Given the description of an element on the screen output the (x, y) to click on. 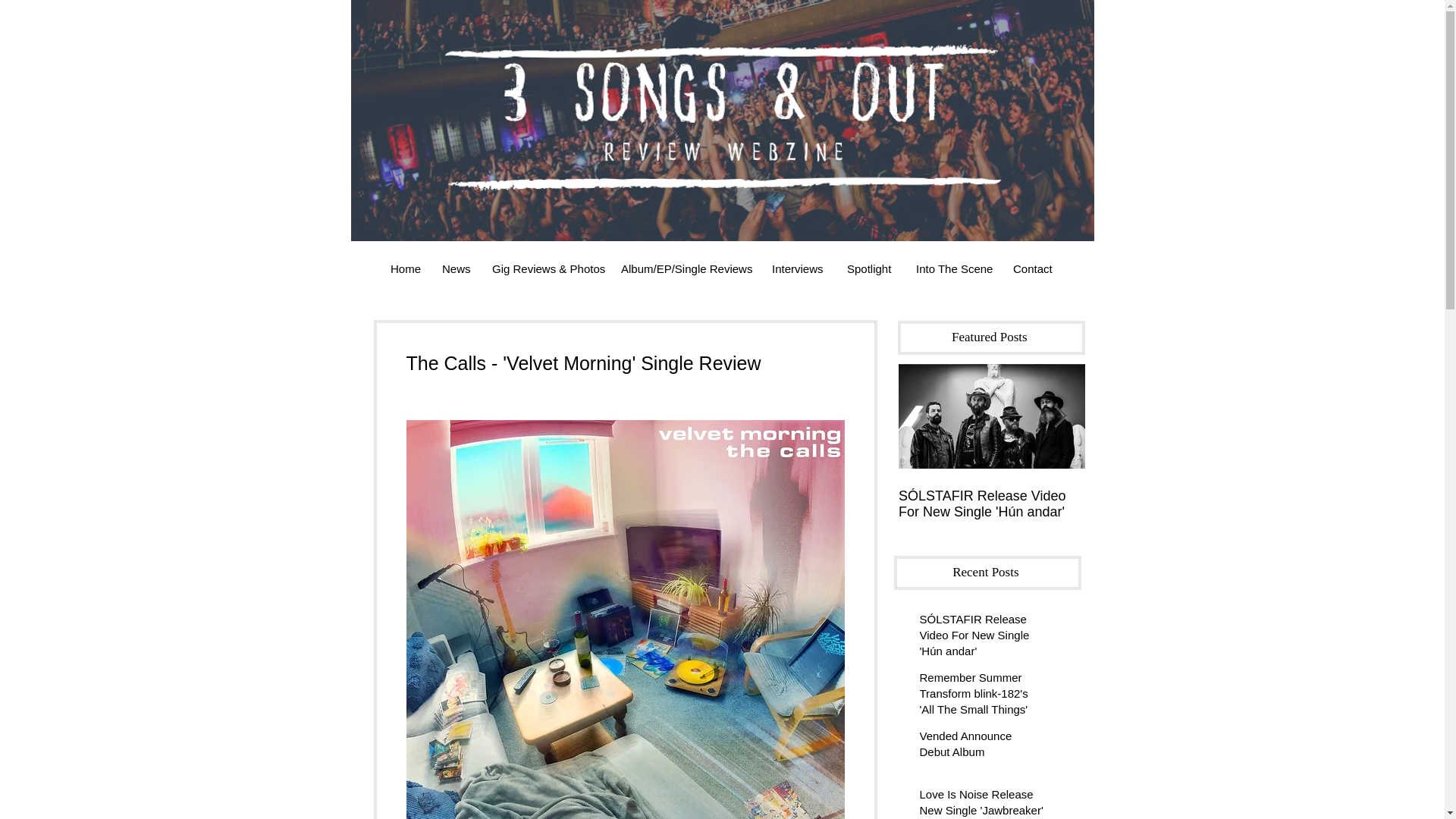
Spotlight (869, 268)
Love Is Noise Release New Single 'Jawbreaker' (980, 802)
Vended Announce Debut Album (980, 746)
Interviews (797, 268)
Remember Summer Transform blink-182's 'All The Small Things' (980, 696)
Remember Summer Transform blink-182's 'All The Small Things' (1177, 512)
Into The Scene (952, 268)
Contact (1032, 268)
Home (404, 268)
News (455, 268)
